Given the description of an element on the screen output the (x, y) to click on. 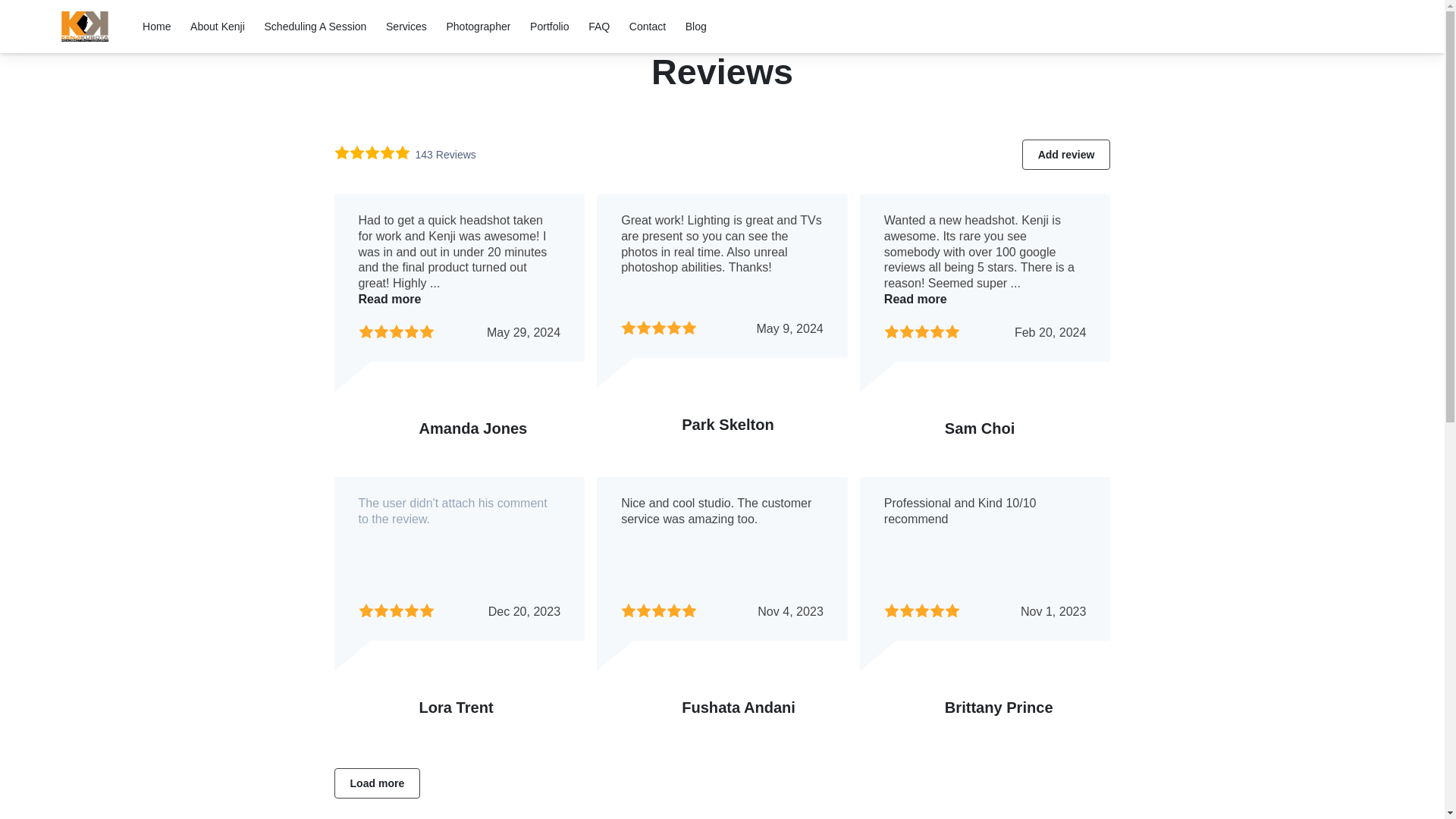
Services (405, 26)
Portfolio (549, 26)
Home (156, 26)
Scheduling A Session (314, 26)
About Kenji (217, 26)
FAQ (599, 26)
Photographer (478, 26)
Blog (695, 26)
Contact (646, 26)
Add review (1066, 154)
Load more (376, 783)
